Given the description of an element on the screen output the (x, y) to click on. 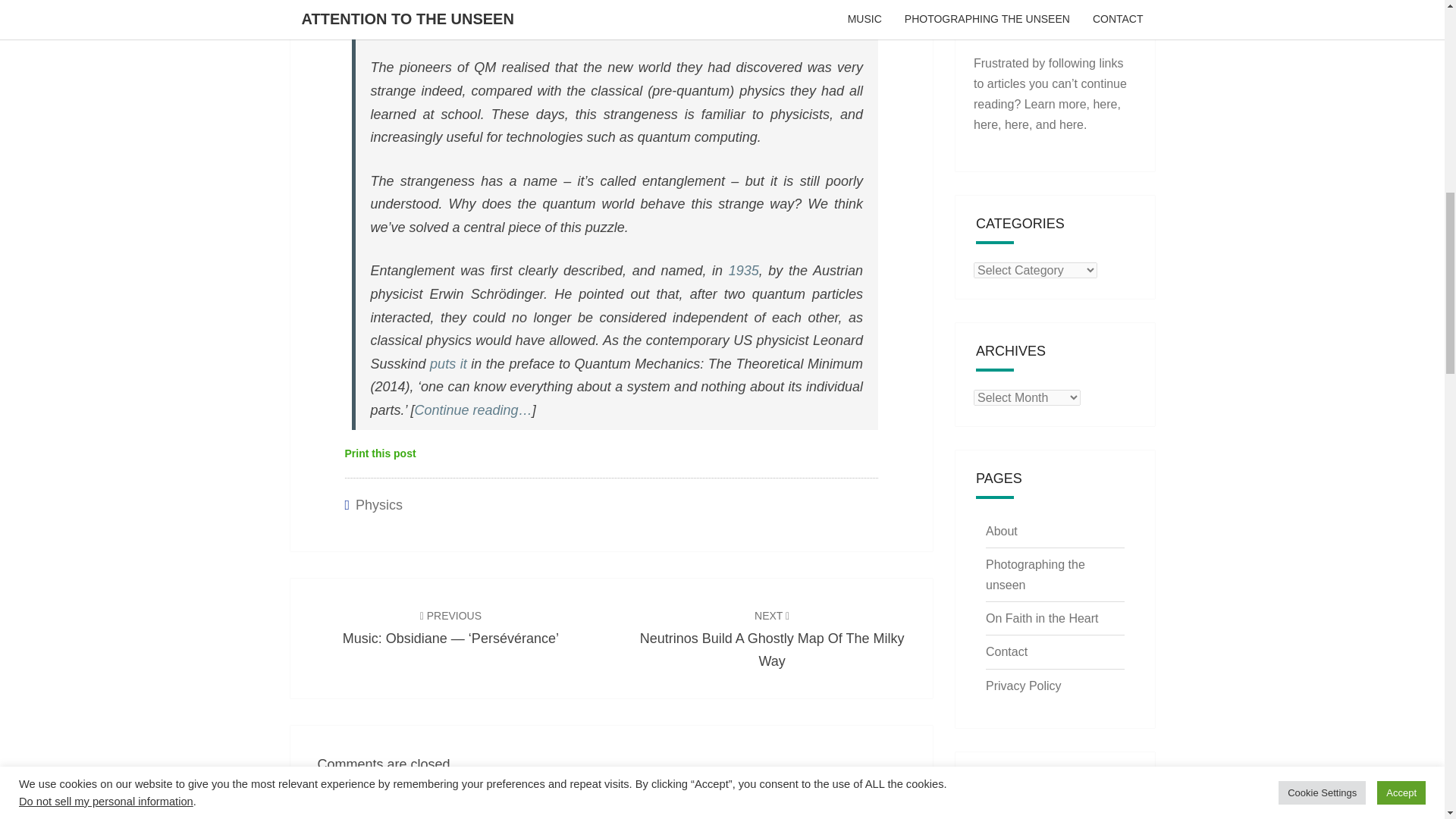
here (772, 638)
Photographing the unseen (1071, 124)
On Faith in the Heart (1034, 574)
here (1042, 617)
Contact (985, 124)
Print this post (1006, 651)
1935 (378, 454)
here (743, 270)
Physics (1104, 103)
puts it (379, 504)
here (448, 363)
About (1016, 124)
Privacy Policy (1001, 530)
